Given the description of an element on the screen output the (x, y) to click on. 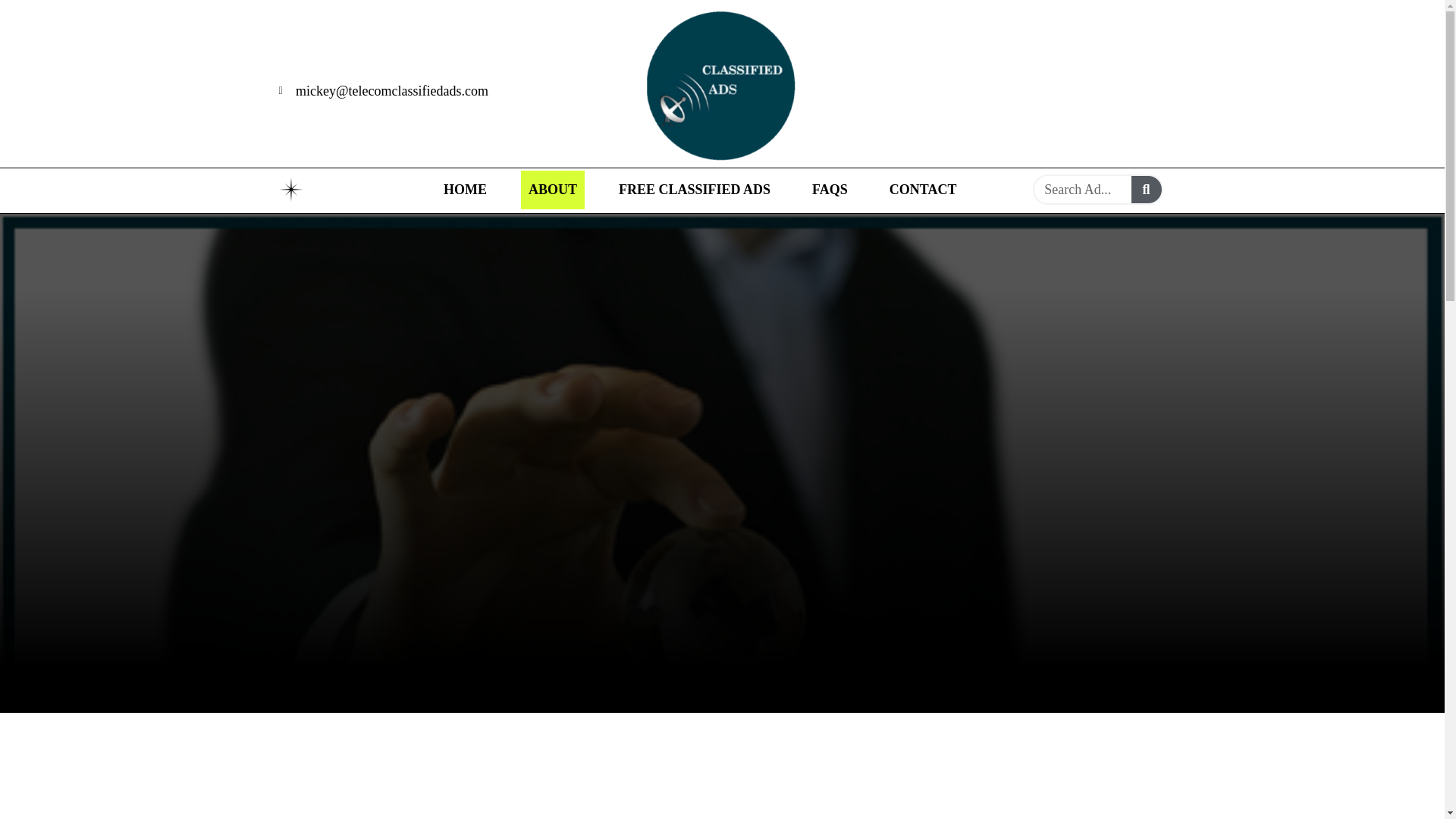
CONTACT (922, 189)
ABOUT (553, 189)
FREE CLASSIFIED ADS (694, 189)
HOME (465, 189)
FAQS (830, 189)
Search (1146, 189)
